Given the description of an element on the screen output the (x, y) to click on. 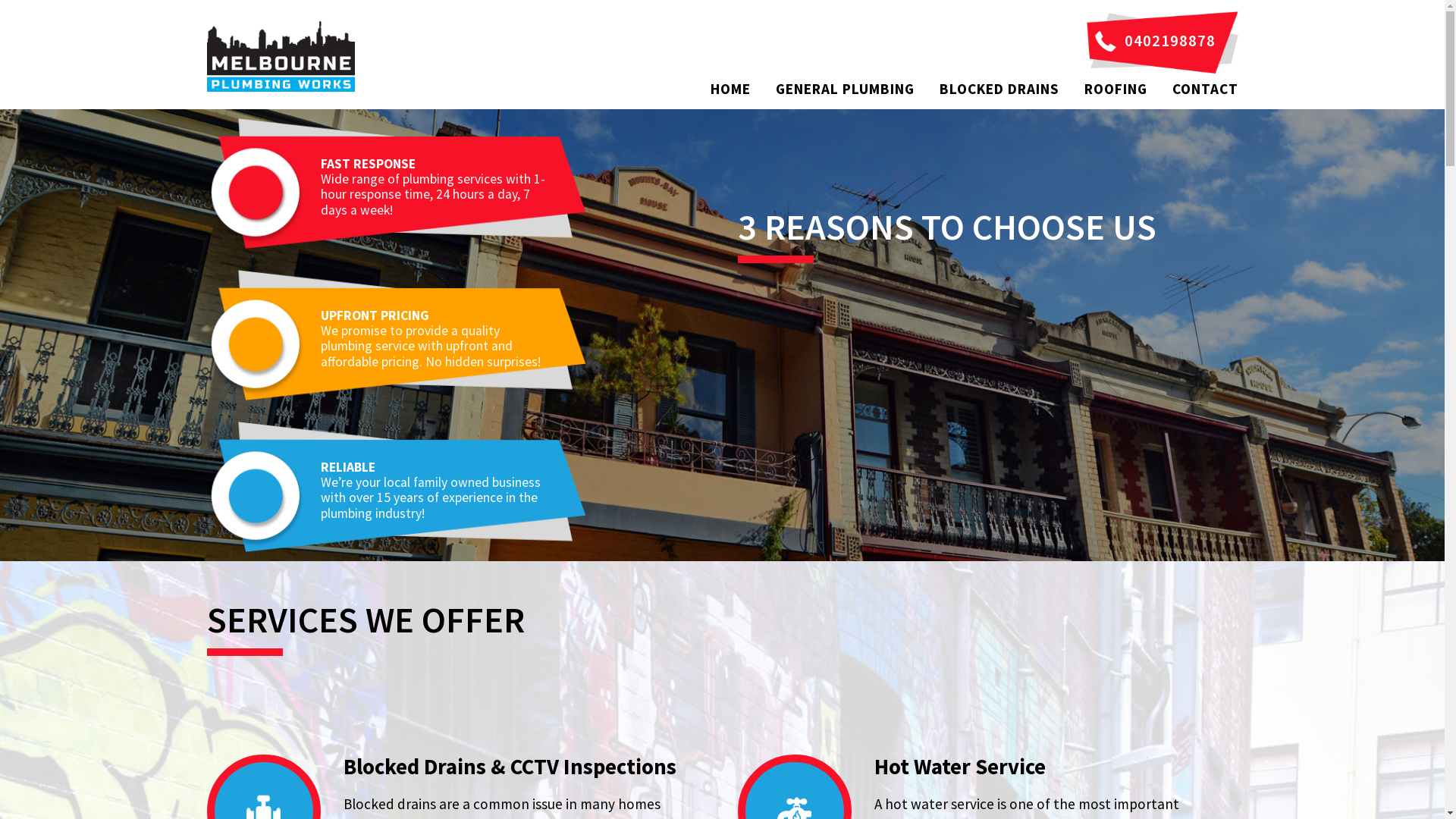
BLOCKED DRAINS Element type: text (998, 88)
HOME Element type: text (729, 88)
ROOFING Element type: text (1115, 88)
0402198878 Element type: text (1161, 41)
GENERAL PLUMBING Element type: text (844, 88)
CONTACT Element type: text (1205, 88)
